Given the description of an element on the screen output the (x, y) to click on. 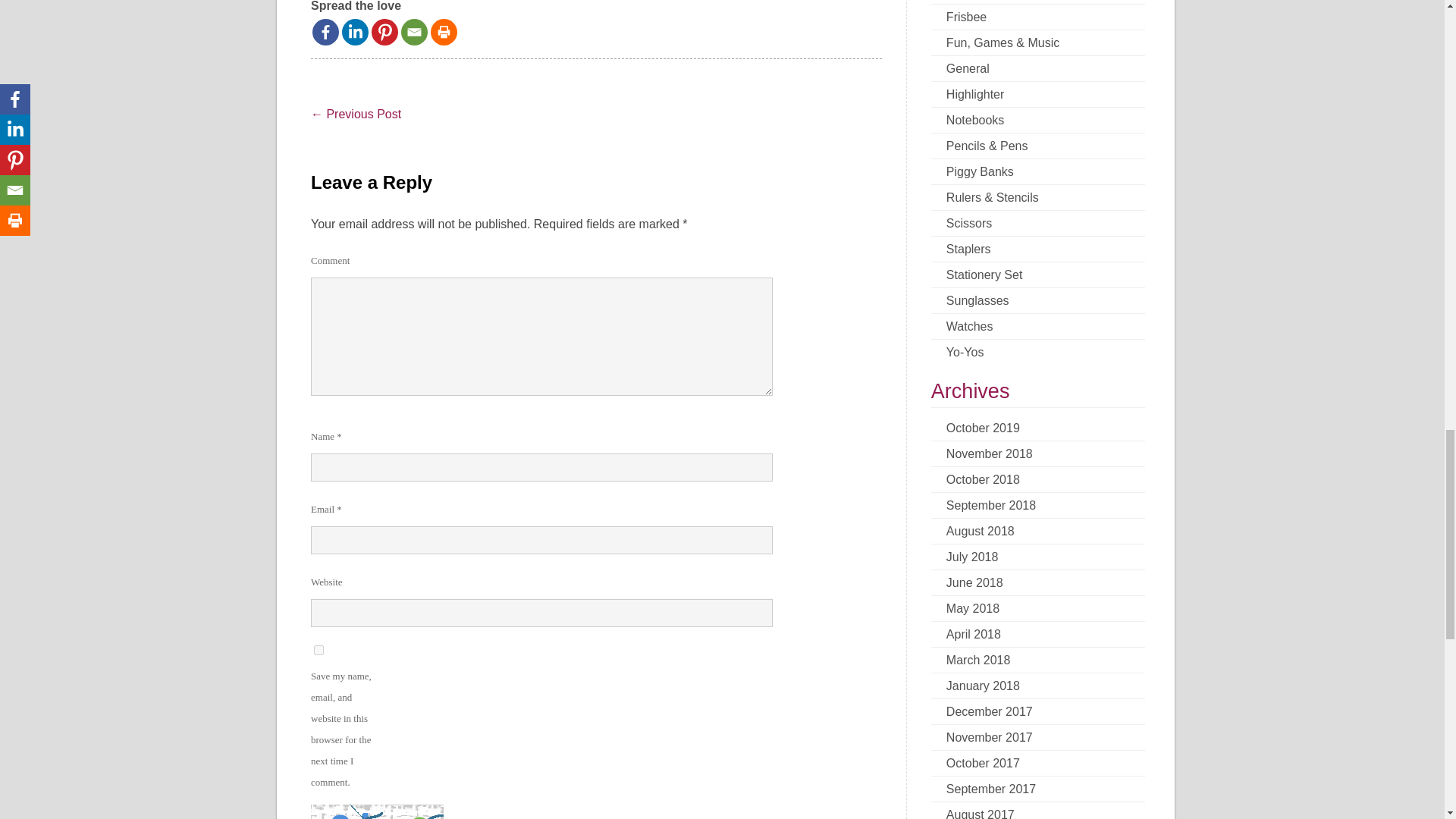
Facebook (326, 31)
Pinterest (384, 31)
yes (318, 650)
Print (443, 31)
CAPTCHA Image (377, 811)
Email (414, 31)
Linkedin (355, 31)
